Given the description of an element on the screen output the (x, y) to click on. 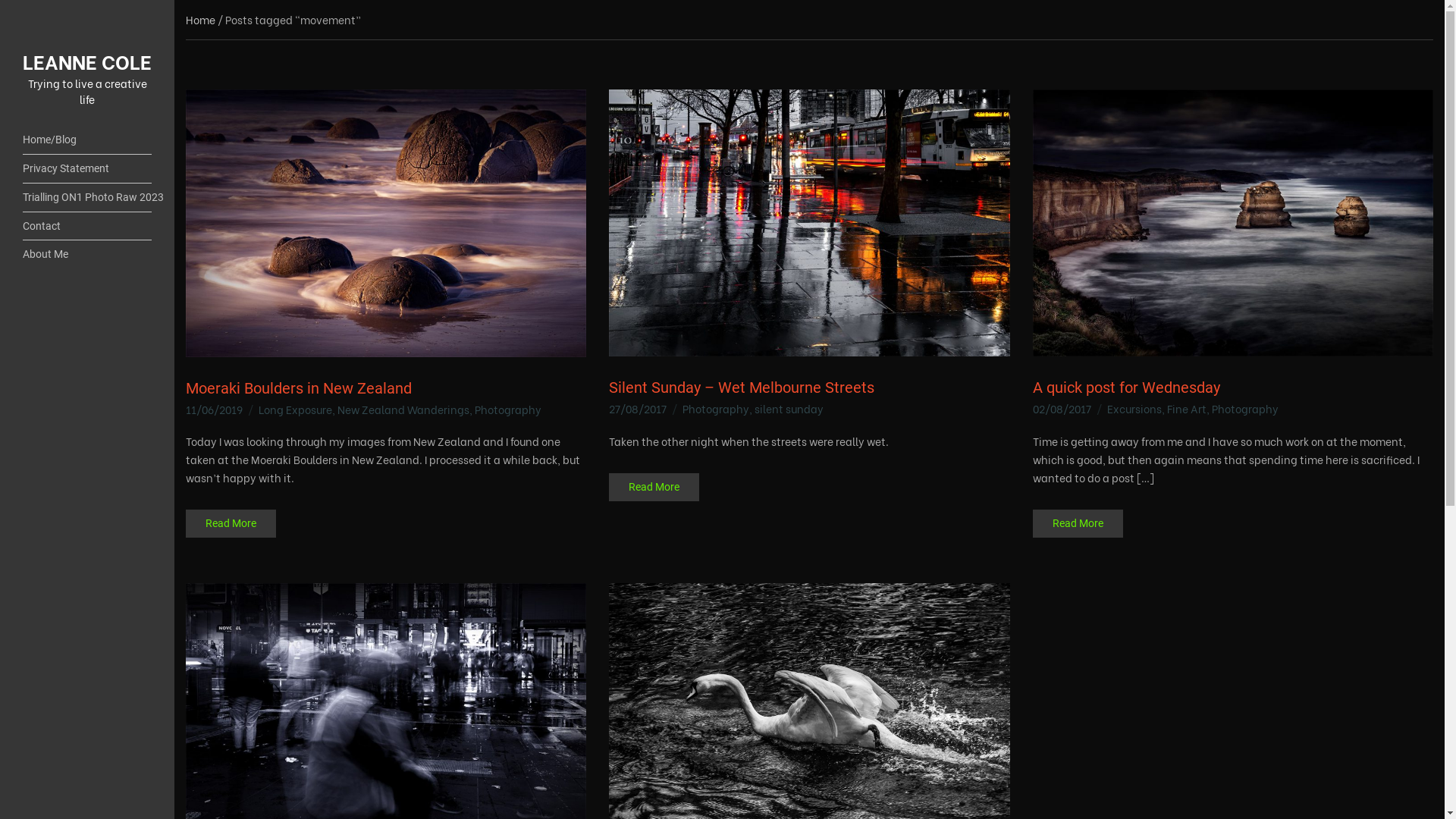
Photography Element type: text (715, 408)
silent sunday Element type: text (788, 408)
Excursions Element type: text (1134, 408)
Photography Element type: text (1244, 408)
Photography Element type: text (507, 409)
Read More Element type: text (653, 487)
Home Element type: text (200, 19)
A quick post for Wednesday Element type: text (1126, 387)
Home/Blog Element type: text (86, 139)
New Zealand Wanderings Element type: text (403, 409)
Moeraki Boulders in New Zealand Element type: text (298, 388)
Read More Element type: text (230, 523)
LEANNE COLE Element type: text (86, 60)
Trialling ON1 Photo Raw 2023 Element type: text (86, 197)
Contact Element type: text (86, 226)
Long Exposure Element type: text (295, 409)
About Me Element type: text (86, 254)
Read More Element type: text (1077, 523)
Privacy Statement Element type: text (86, 168)
Fine Art Element type: text (1186, 408)
